Given the description of an element on the screen output the (x, y) to click on. 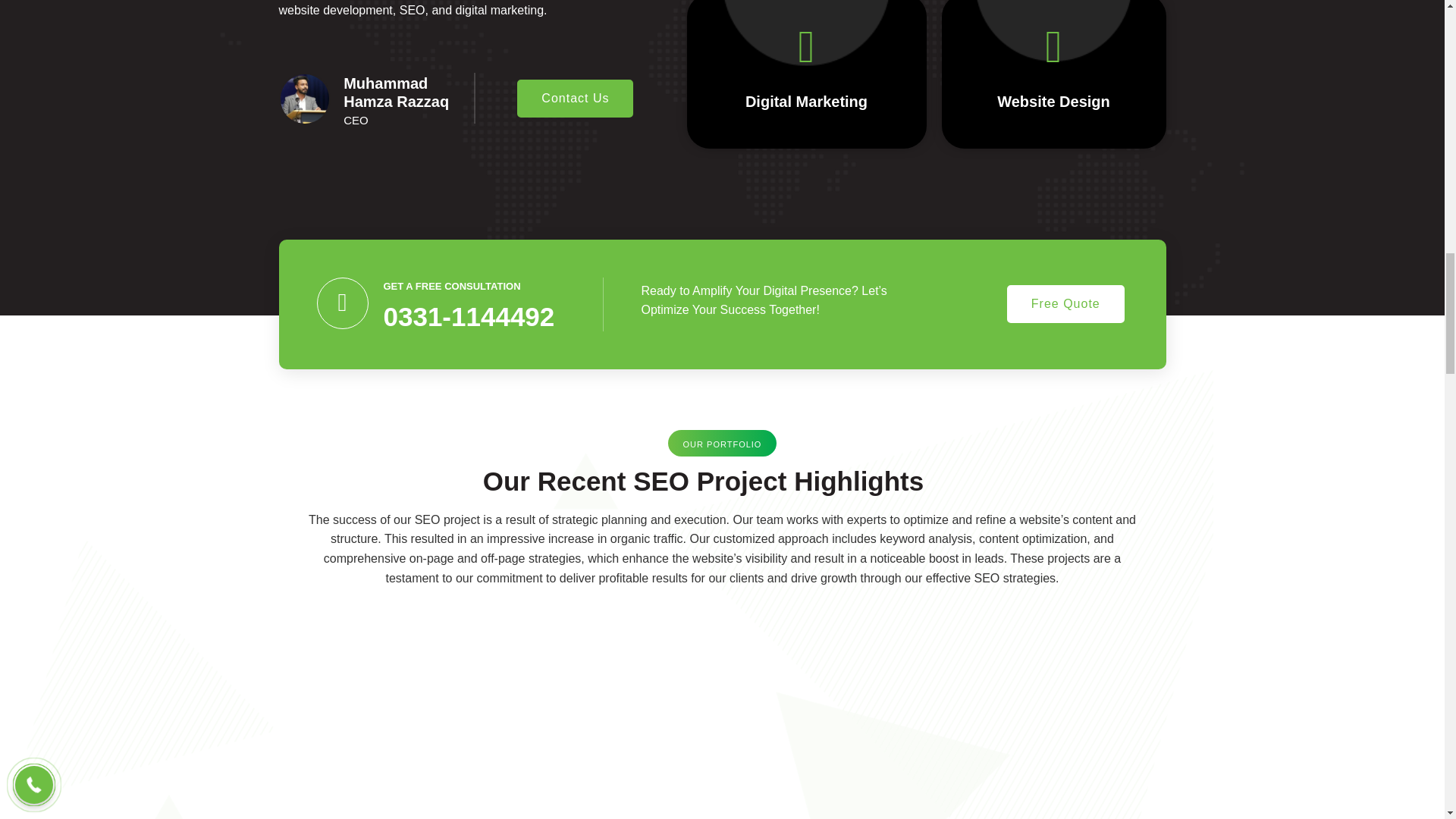
Muhammad Hamza Razzaq (395, 92)
Contact Us (574, 98)
